Given the description of an element on the screen output the (x, y) to click on. 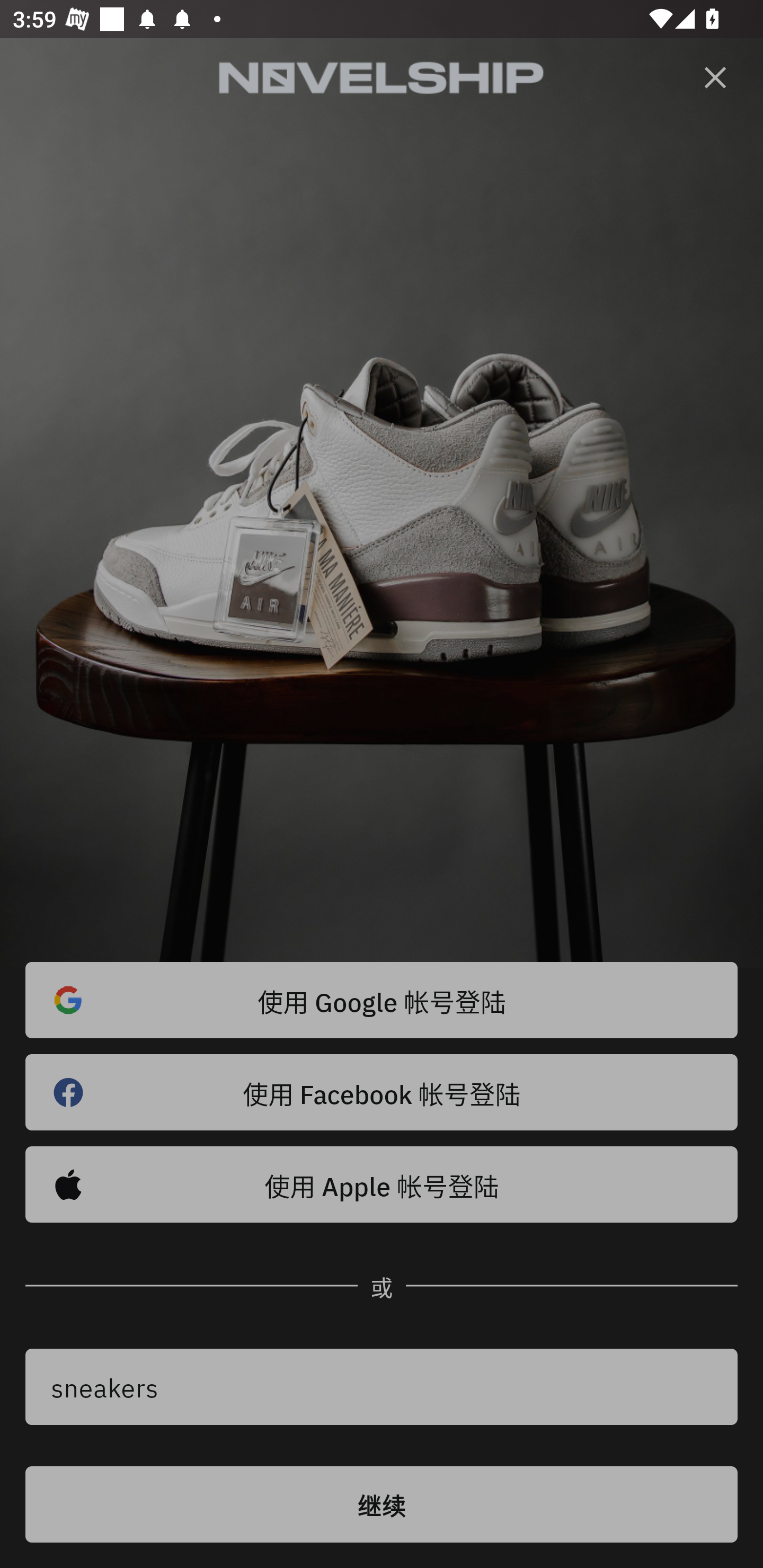
使用 Google 帐号登陆 (381, 1000)
使用 Facebook 帐号登陆 󰈌 (381, 1091)
 使用 Apple 帐号登陆 (381, 1184)
sneakers (381, 1386)
继续 (381, 1504)
